Given the description of an element on the screen output the (x, y) to click on. 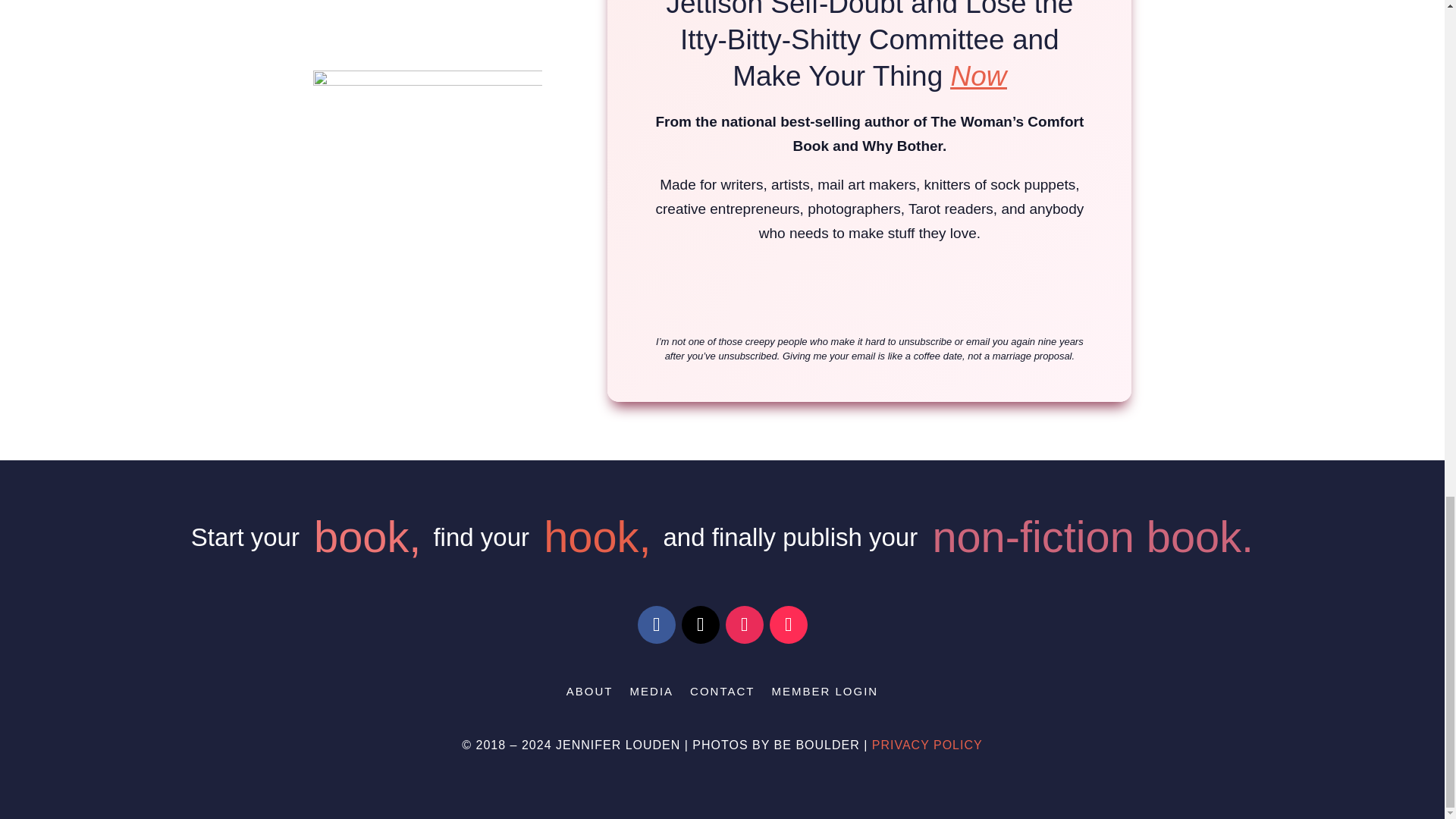
CONTACT (722, 694)
Follow on Instagram (743, 624)
MEMBER LOGIN (824, 694)
MEDIA (652, 694)
Follow on TikTok (787, 624)
1651736701 (427, 174)
Follow on X (700, 624)
PRIVACY POLICY (927, 744)
ABOUT (589, 694)
Follow on Facebook (656, 624)
